Given the description of an element on the screen output the (x, y) to click on. 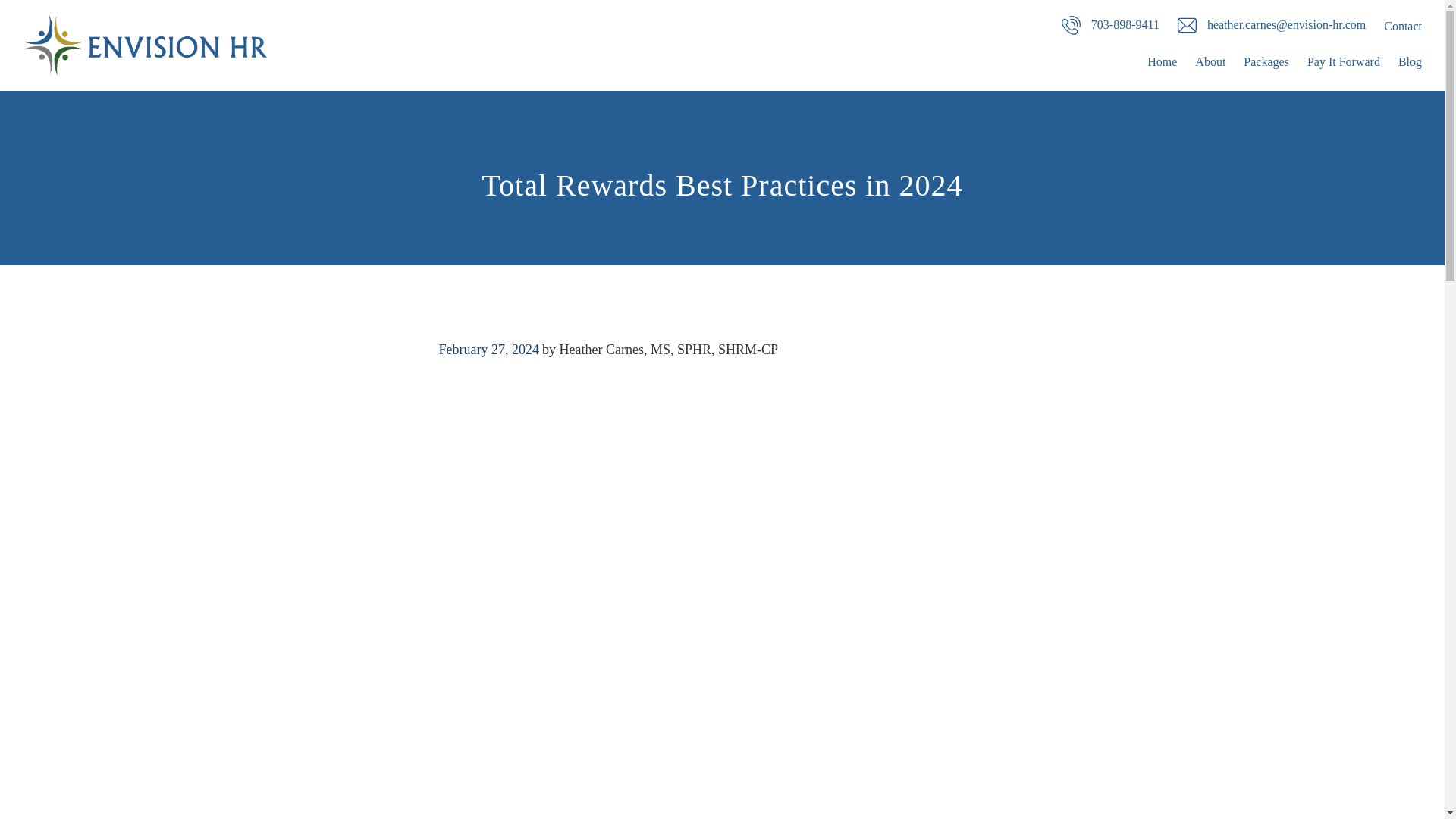
Blog (1409, 61)
About (1210, 61)
Home (1161, 61)
Contact (1403, 25)
Pay It Forward (1343, 61)
703-898-9411 (1109, 24)
Packages (1265, 61)
